Given the description of an element on the screen output the (x, y) to click on. 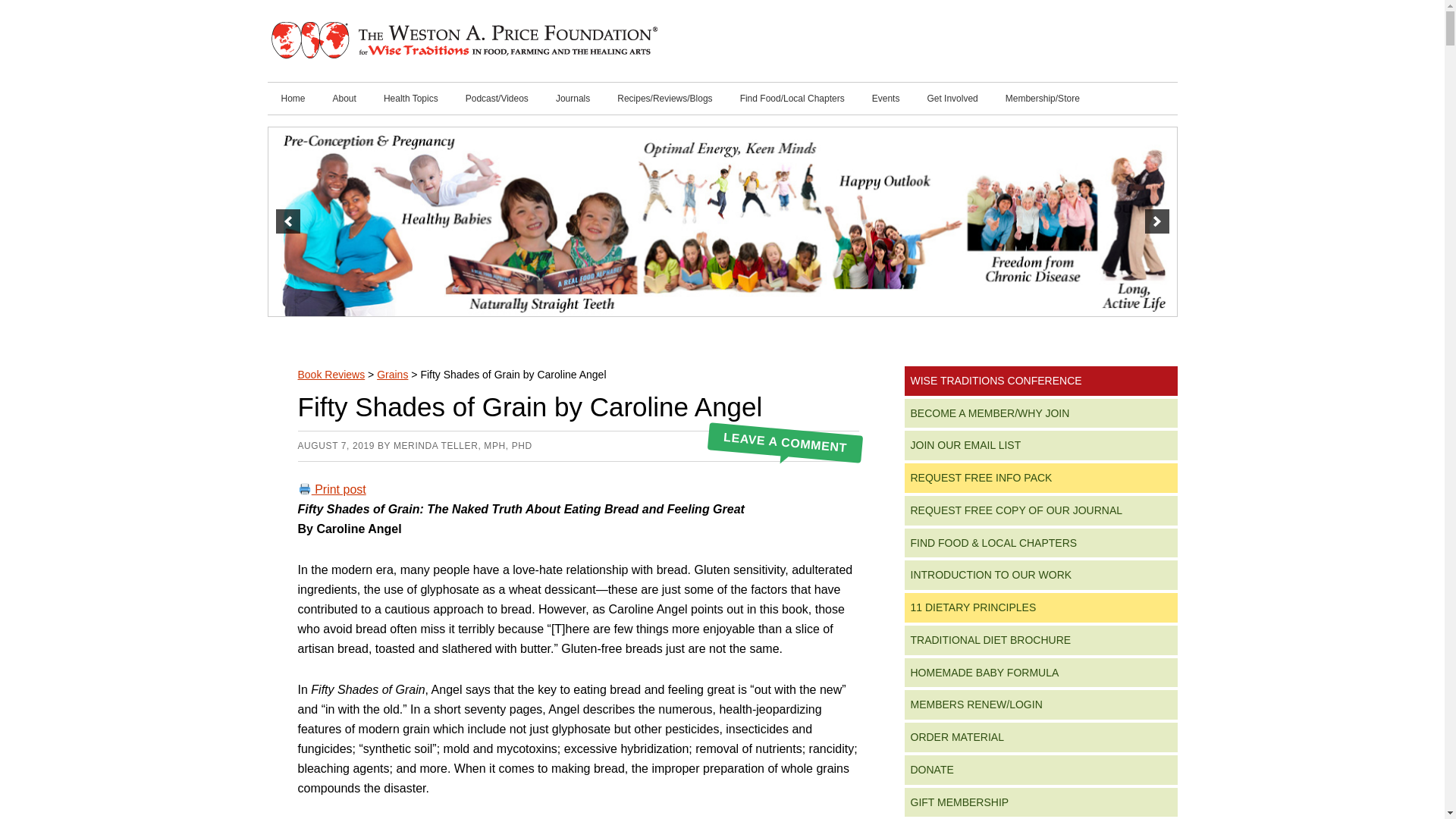
The Weston A. Price Foundation (462, 40)
About (343, 98)
Journals (572, 98)
Home (292, 98)
Go to Book Reviews. (331, 374)
Go to the Grains Book Review Category archives. (392, 374)
Health Topics (410, 98)
The Weston A. Price Foundation (462, 40)
